Given the description of an element on the screen output the (x, y) to click on. 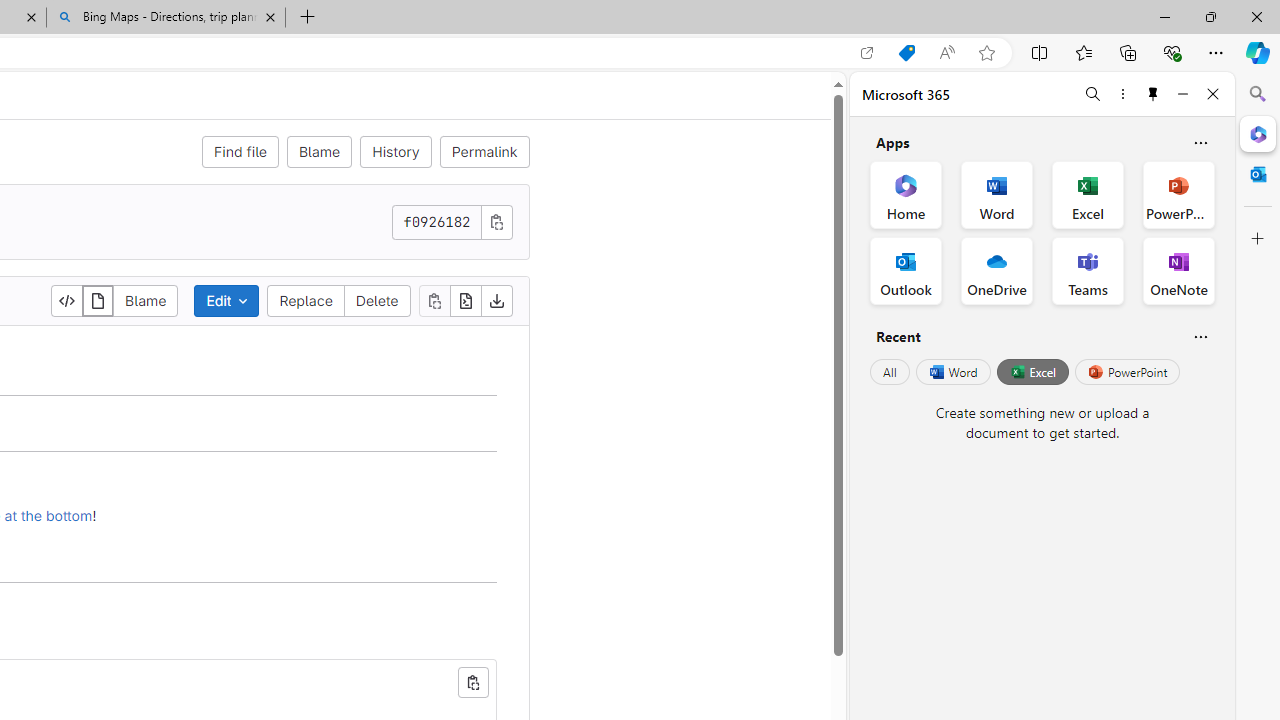
Shopping in Microsoft Edge (906, 53)
Excel Office App (1087, 194)
Find file (240, 151)
Home Office App (906, 194)
Replace (306, 300)
Blame (145, 300)
OneDrive Office App (996, 270)
Is this helpful? (1200, 336)
Excel (1031, 372)
